Given the description of an element on the screen output the (x, y) to click on. 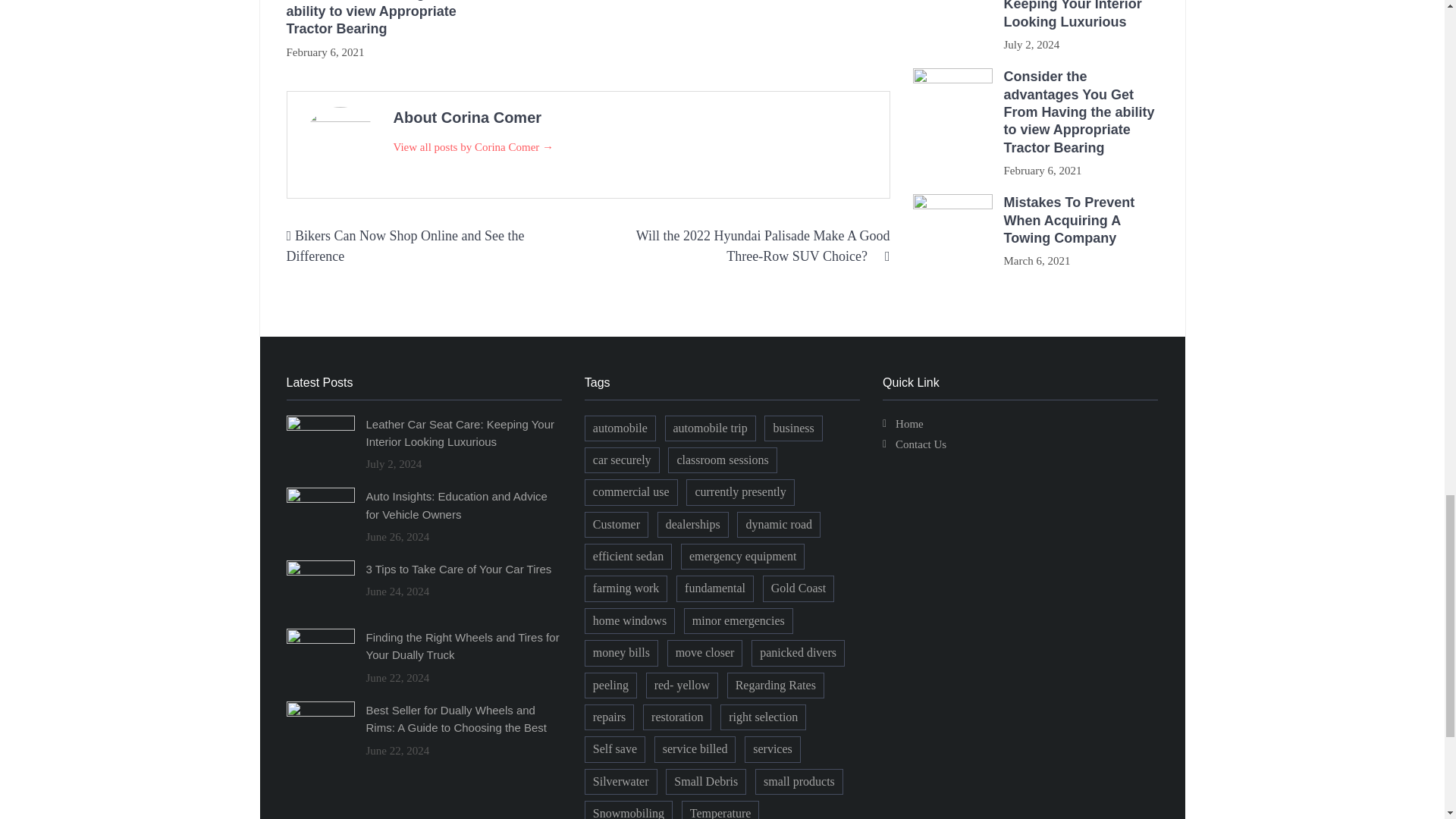
Bikers Can Now Shop Online and See the Difference (405, 245)
